Given the description of an element on the screen output the (x, y) to click on. 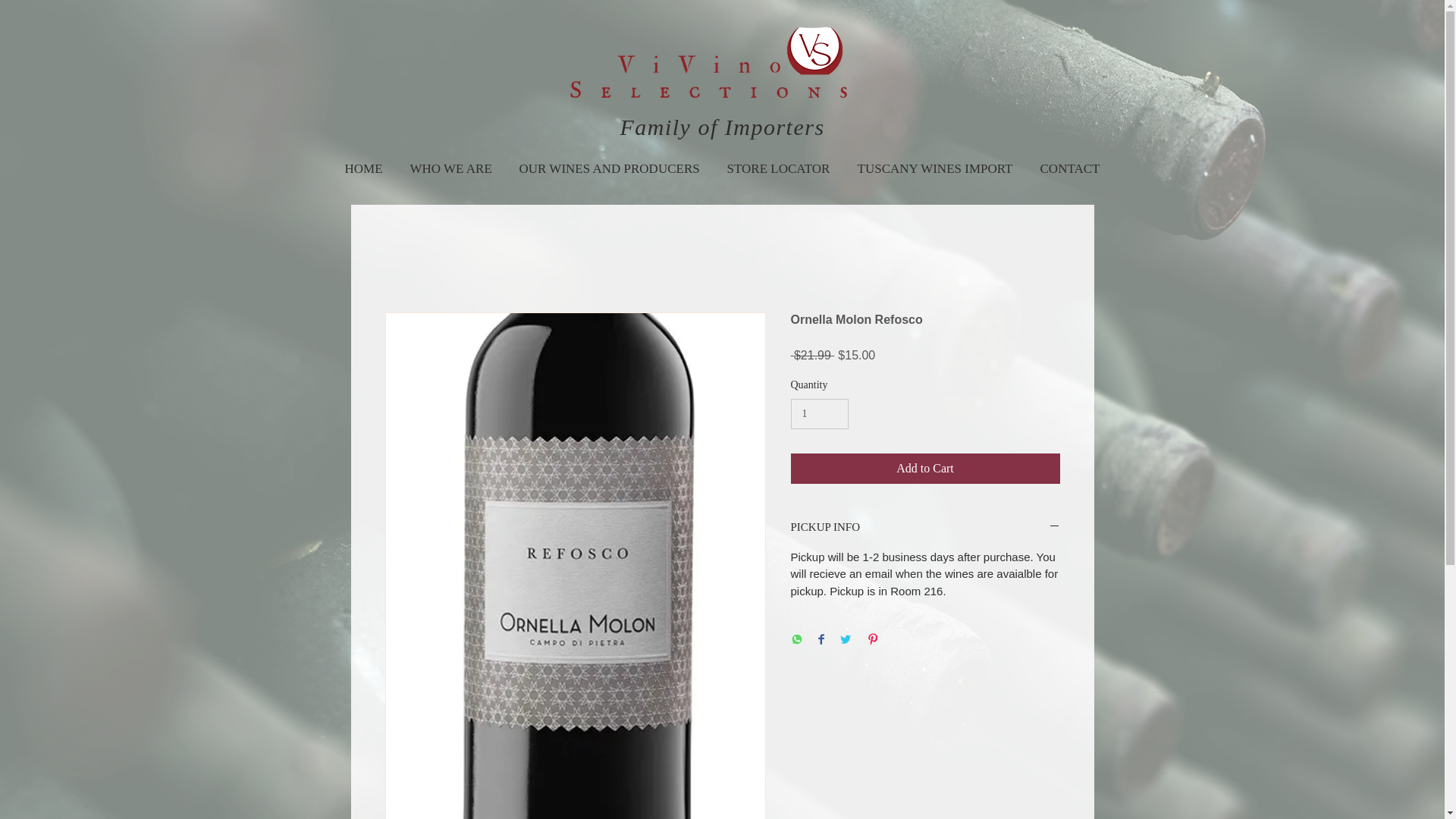
1 (818, 413)
STORE LOCATOR (778, 161)
TUSCANY WINES IMPORT (934, 161)
OUR WINES AND PRODUCERS (609, 161)
HOME (363, 161)
WHO WE ARE (450, 161)
Add to Cart (924, 468)
CONTACT (1069, 161)
PICKUP INFO (924, 528)
